Given the description of an element on the screen output the (x, y) to click on. 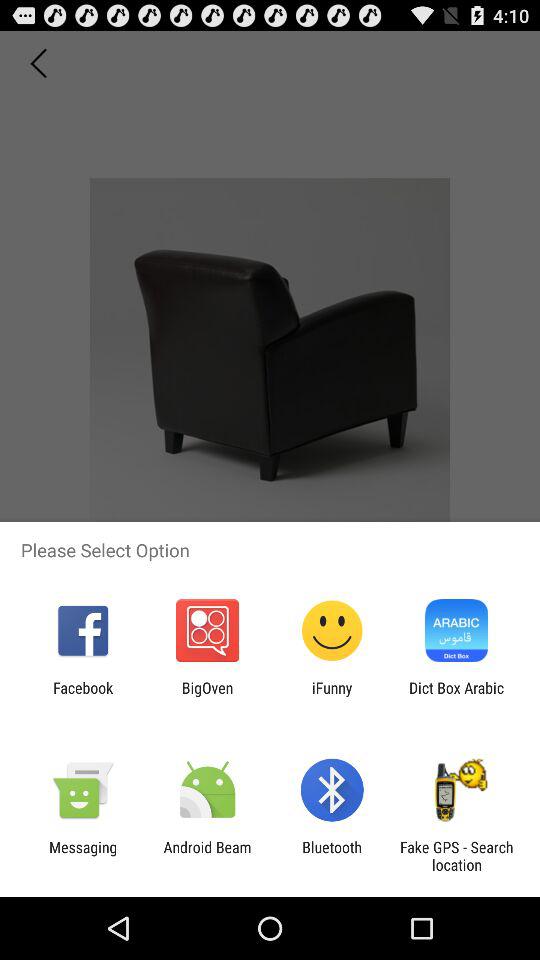
launch item to the left of the ifunny (207, 696)
